Given the description of an element on the screen output the (x, y) to click on. 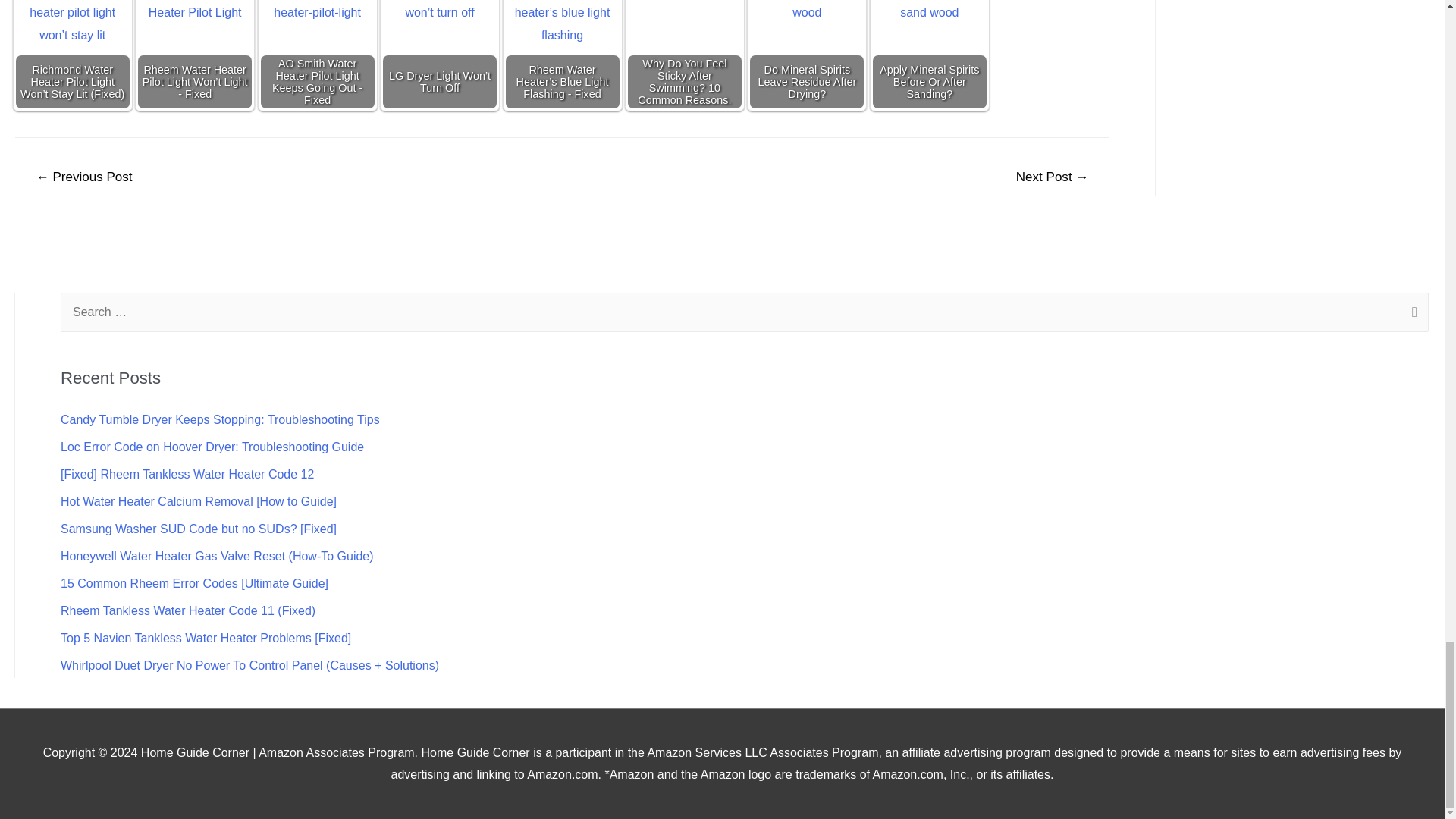
Why Do You Feel Sticky After Swimming? 10 Common Reasons. (685, 55)
Why Do You Feel Sticky After Swimming? 10 Common Reasons. (684, 46)
AO Smith Water Heater Pilot Light Keeps Going Out - Fixed (318, 55)
Do Mineral Spirits Leave Residue After Drying? (807, 55)
AO Smith Water Heater Pilot Light Keeps Going Out - Fixed (317, 46)
Do Mineral Spirits Leave Residue After Drying? (806, 46)
Apply Mineral Spirits Before Or After Sanding? (929, 46)
